Given the description of an element on the screen output the (x, y) to click on. 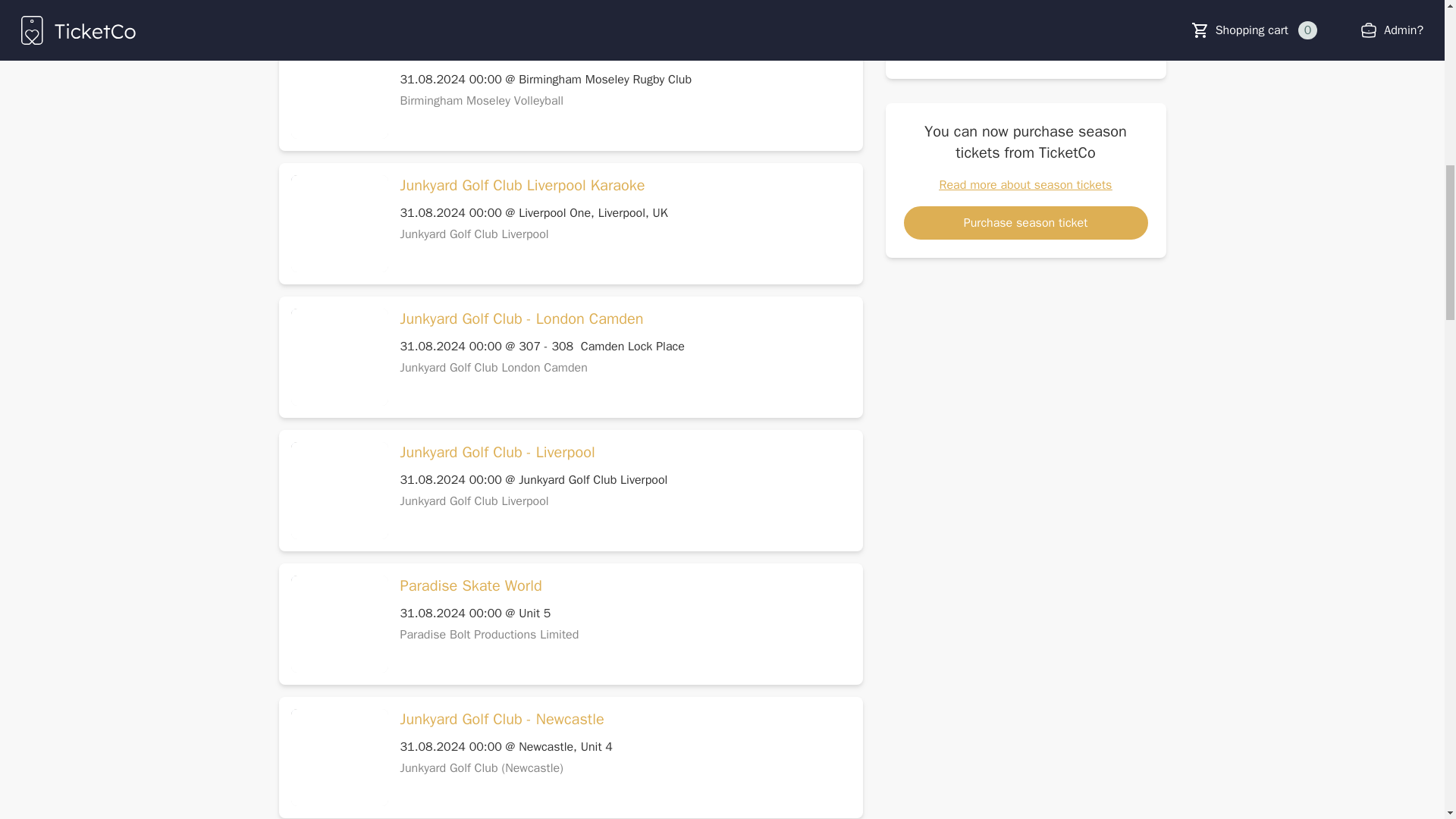
Birmingham Moseley Volleyball (482, 100)
Birmingham Moseley Beach Volleyball Courts (549, 52)
Junkyard Golf Club - London Camden (521, 319)
Junkyard Golf Club Liverpool (474, 500)
Junkyard Golf Club Liverpool (474, 233)
Junkyard Golf Club Liverpool Karaoke (522, 185)
Junkyard Golf Club London Camden (494, 367)
Junkyard Golf Club - Liverpool (497, 452)
